Given the description of an element on the screen output the (x, y) to click on. 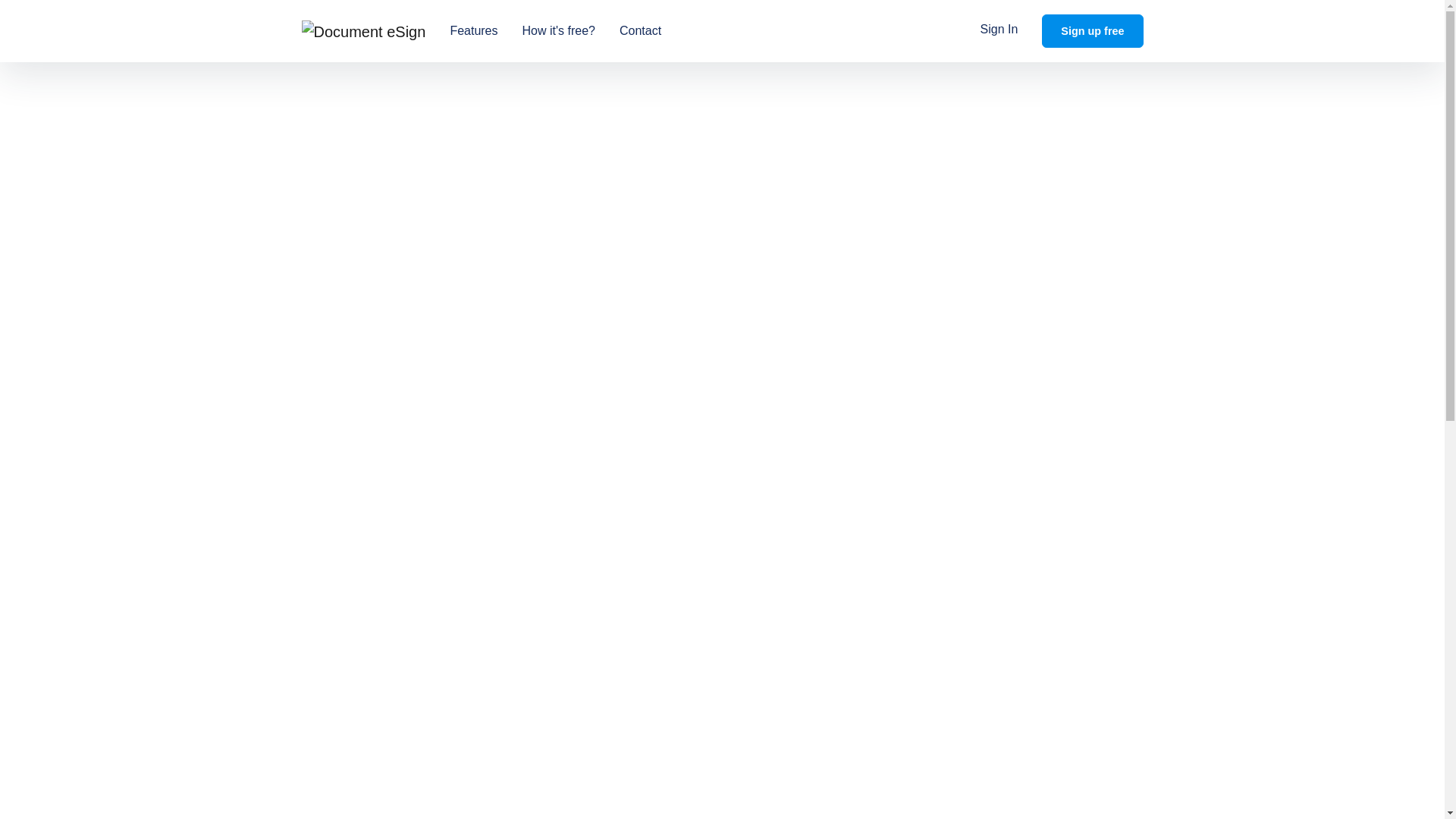
Sign up free (1092, 30)
Features (473, 30)
How it's free? (559, 30)
Contact (639, 30)
Sign In (999, 29)
